Given the description of an element on the screen output the (x, y) to click on. 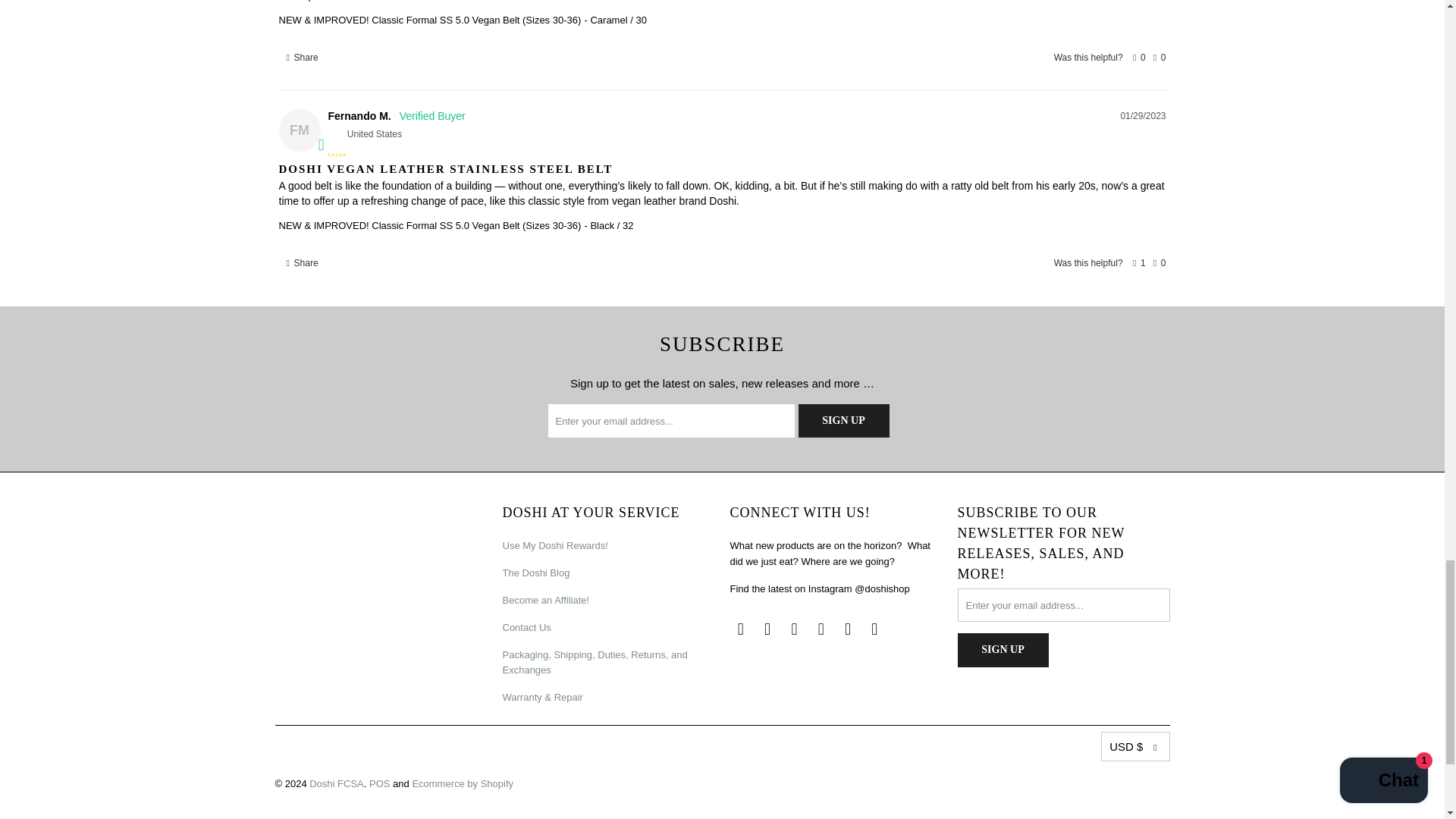
Sign Up (842, 420)
Sign Up (1002, 650)
